Given the description of an element on the screen output the (x, y) to click on. 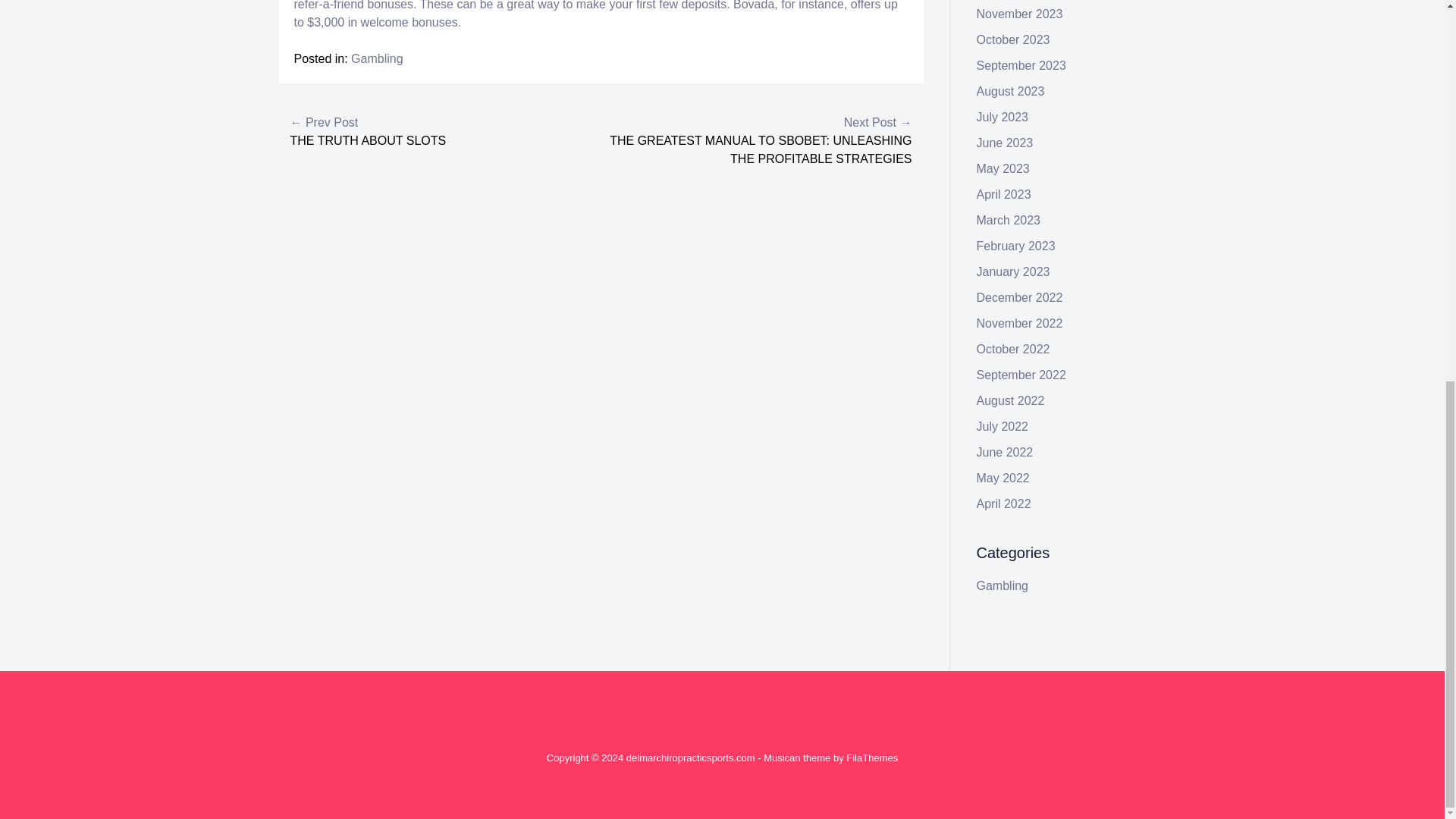
July 2023 (1002, 116)
November 2023 (1019, 13)
April 2023 (1003, 194)
October 2023 (1012, 39)
February 2023 (1015, 245)
June 2023 (1004, 142)
November 2022 (1019, 323)
August 2023 (1010, 91)
June 2022 (1004, 451)
August 2022 (1010, 400)
October 2022 (1012, 349)
January 2023 (1012, 271)
September 2023 (1020, 65)
May 2023 (1002, 168)
March 2023 (1008, 219)
